Given the description of an element on the screen output the (x, y) to click on. 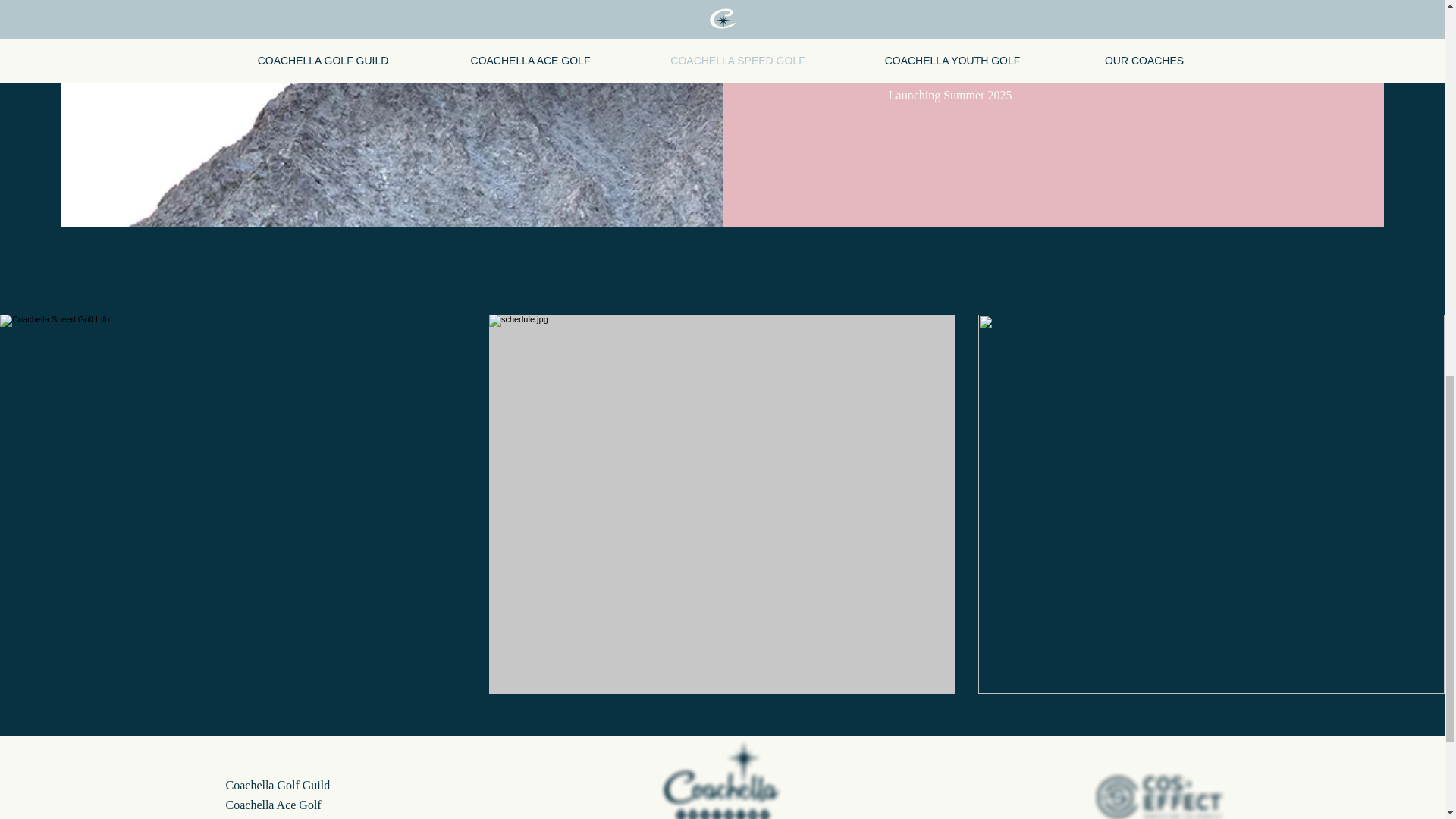
Coachella Ace Golf (273, 804)
Coachella Golf Guild (277, 784)
Coachella Speed Golf (278, 818)
